Given the description of an element on the screen output the (x, y) to click on. 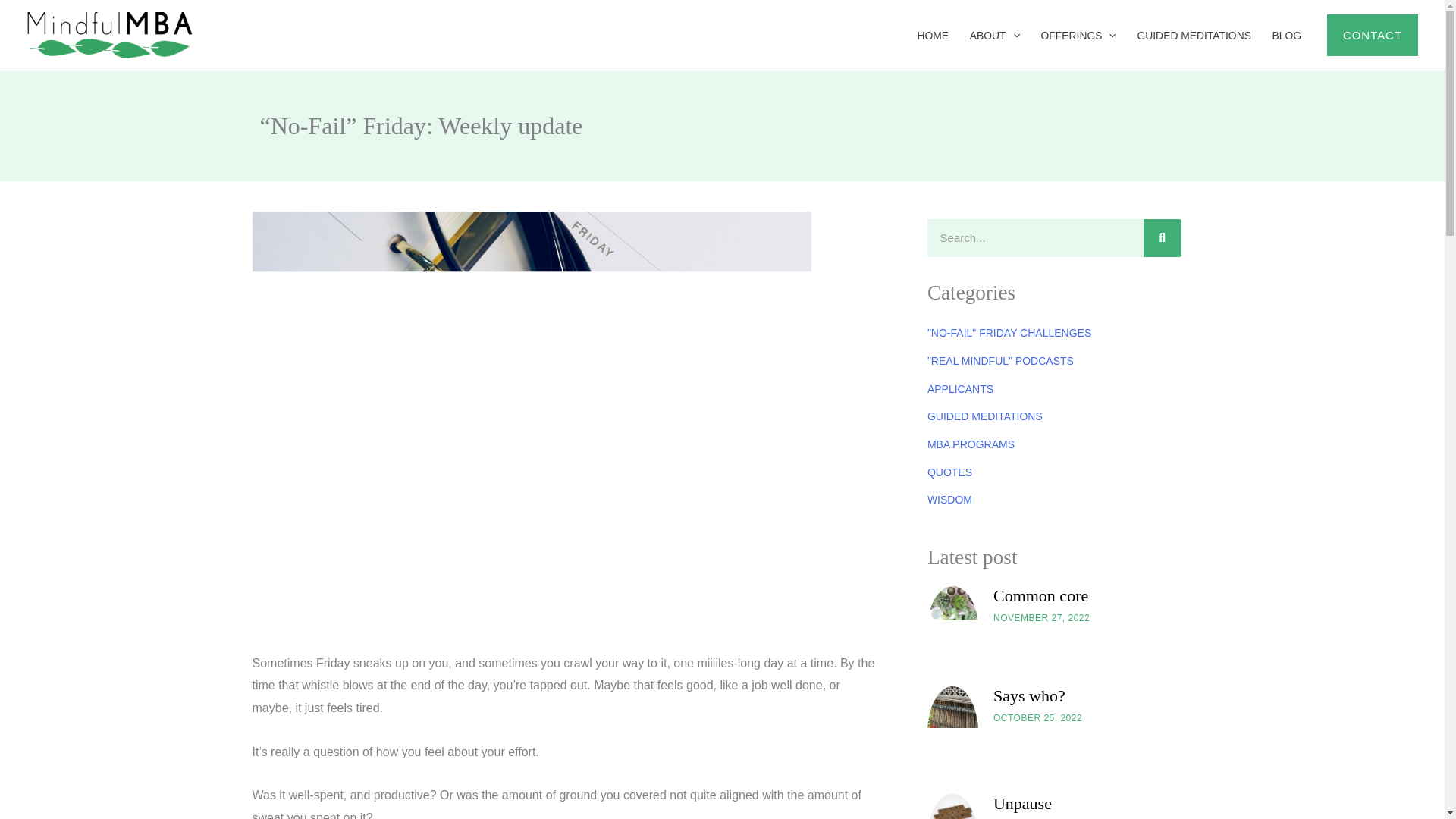
"REAL MINDFUL" PODCASTS (1000, 360)
GUIDED MEDITATIONS (1194, 35)
OFFERINGS (1078, 35)
MBA PROGRAMS (970, 444)
ABOUT (994, 35)
Search (1161, 238)
GUIDED MEDITATIONS (984, 416)
CONTACT (1372, 35)
APPLICANTS (959, 388)
"NO-FAIL" FRIDAY CHALLENGES (1008, 332)
